Given the description of an element on the screen output the (x, y) to click on. 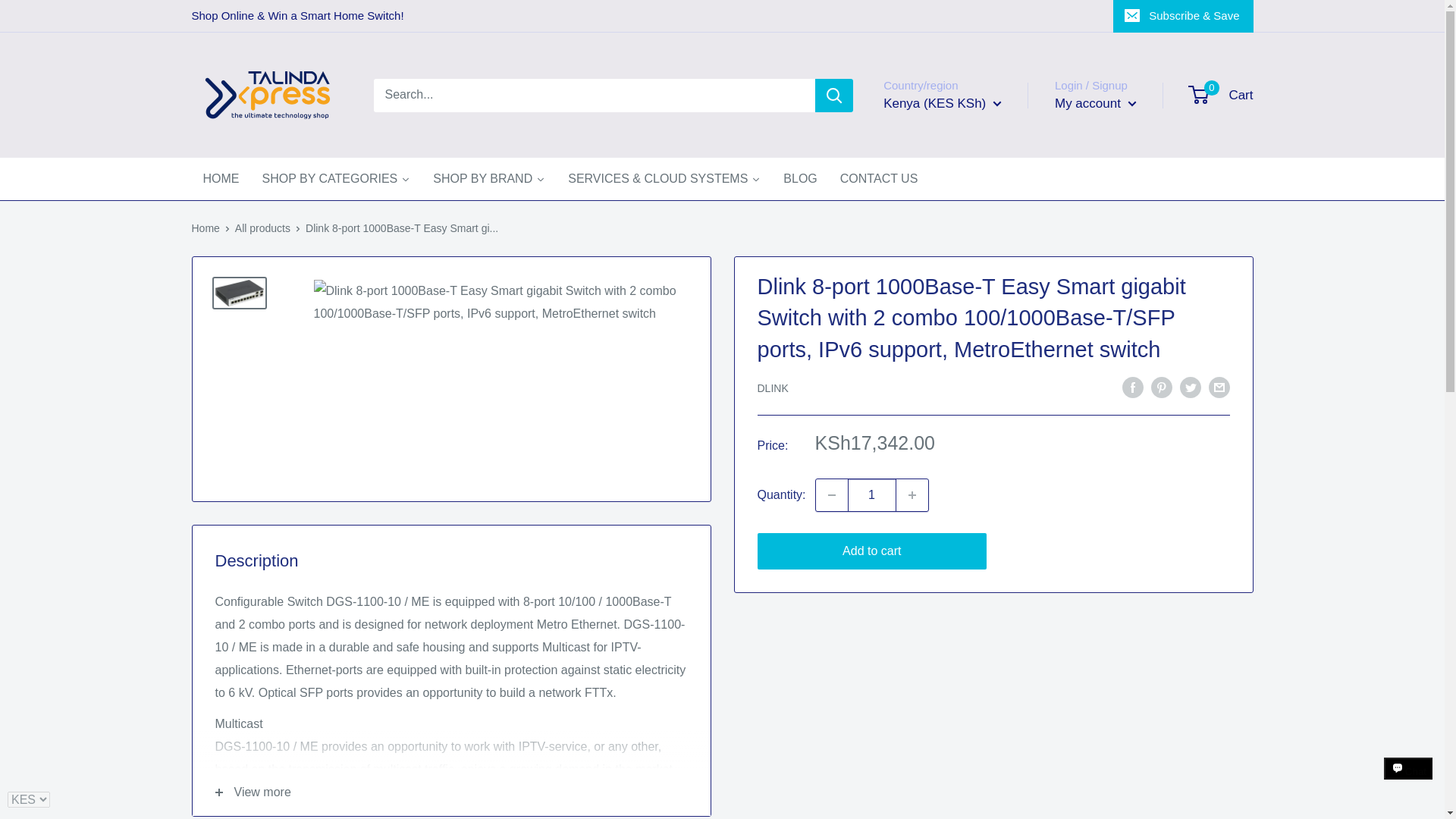
HOME (220, 178)
1 (871, 495)
BLOG (799, 178)
SHOP BY CATEGORIES (336, 178)
Increase quantity by 1 (912, 495)
SHOP BY BRAND  (489, 178)
Decrease quantity by 1 (831, 495)
CONTACT US (879, 178)
Shopify online store chat (1408, 781)
